Given the description of an element on the screen output the (x, y) to click on. 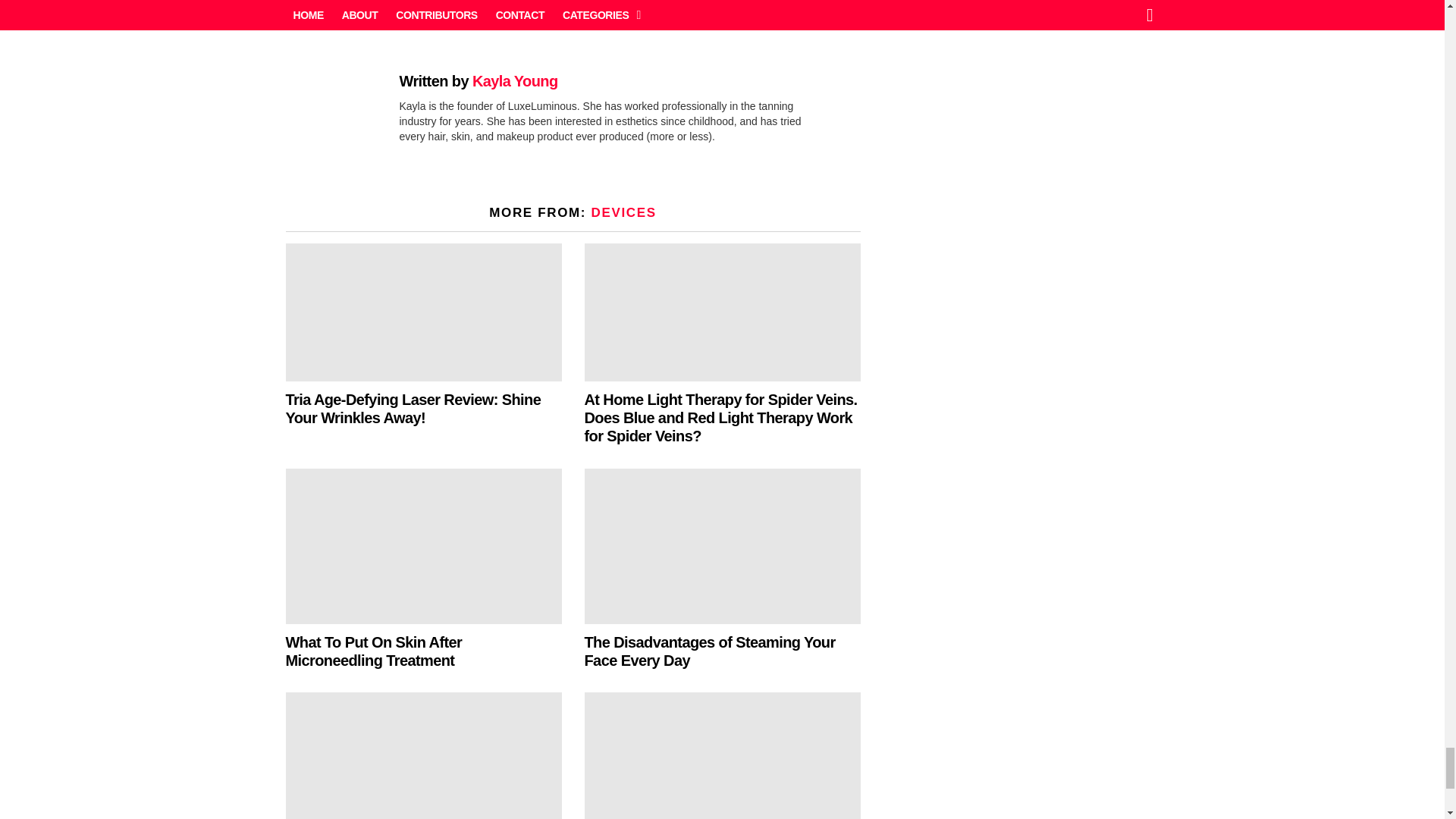
Tria Age-Defying Laser Review: Shine Your Wrinkles Away! (422, 312)
What To Put On Skin After Microneedling Treatment (422, 546)
